Given the description of an element on the screen output the (x, y) to click on. 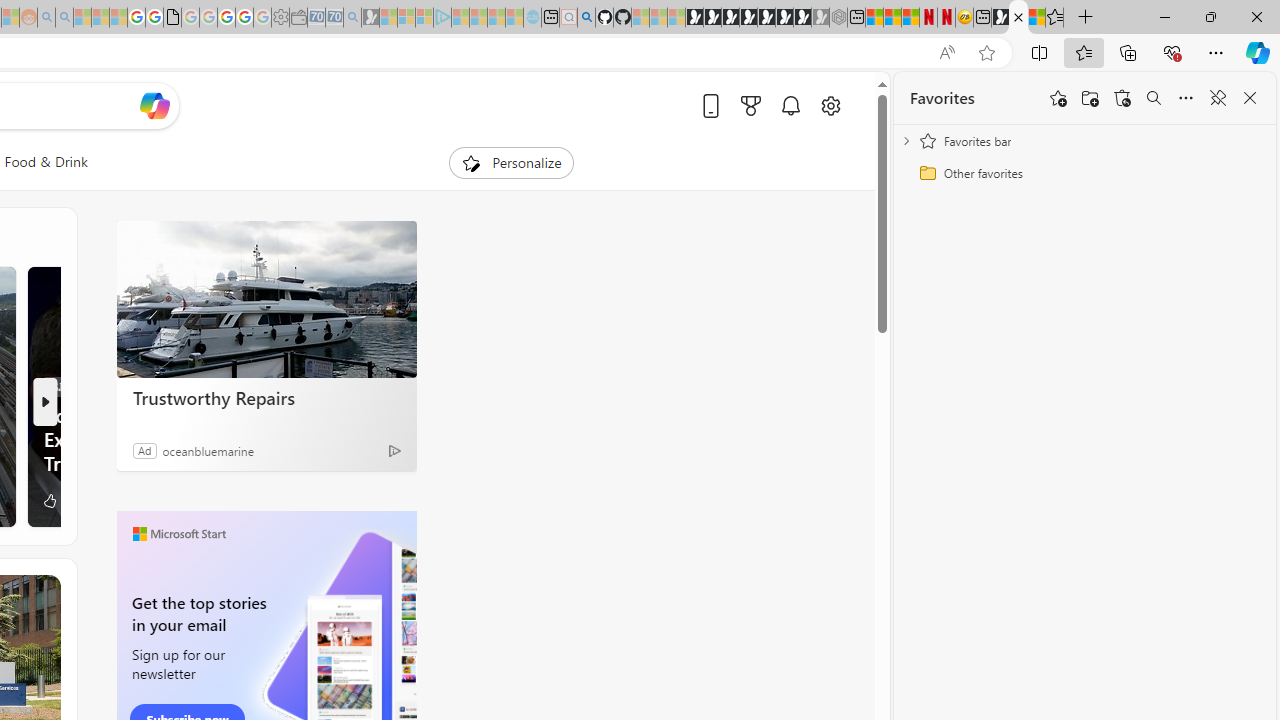
Add this page to favorites (1058, 98)
